Given the description of an element on the screen output the (x, y) to click on. 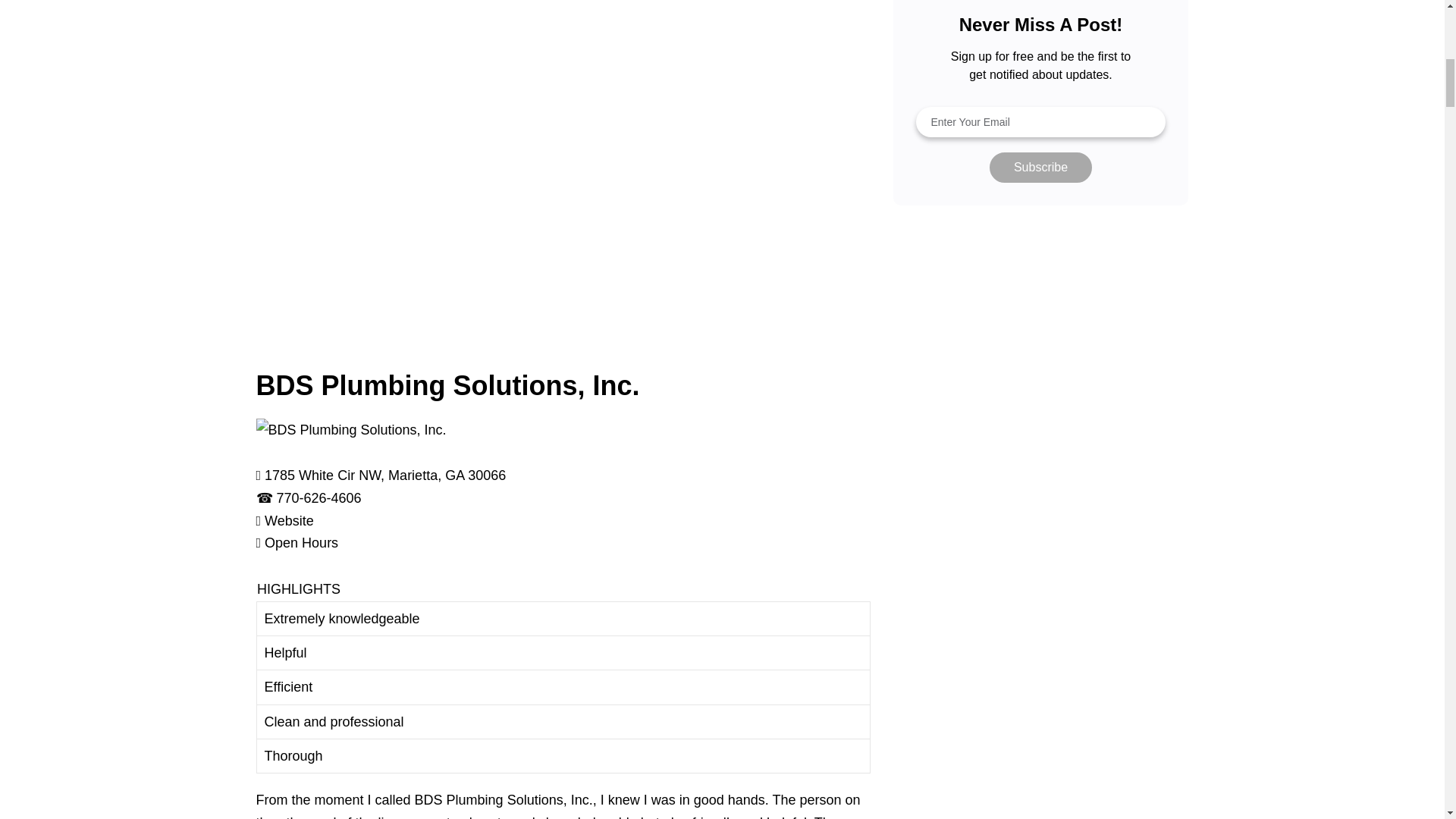
770-626-4606 (318, 498)
1785 White Cir NW, Marietta, GA 30066 (384, 475)
Website (289, 520)
